Given the description of an element on the screen output the (x, y) to click on. 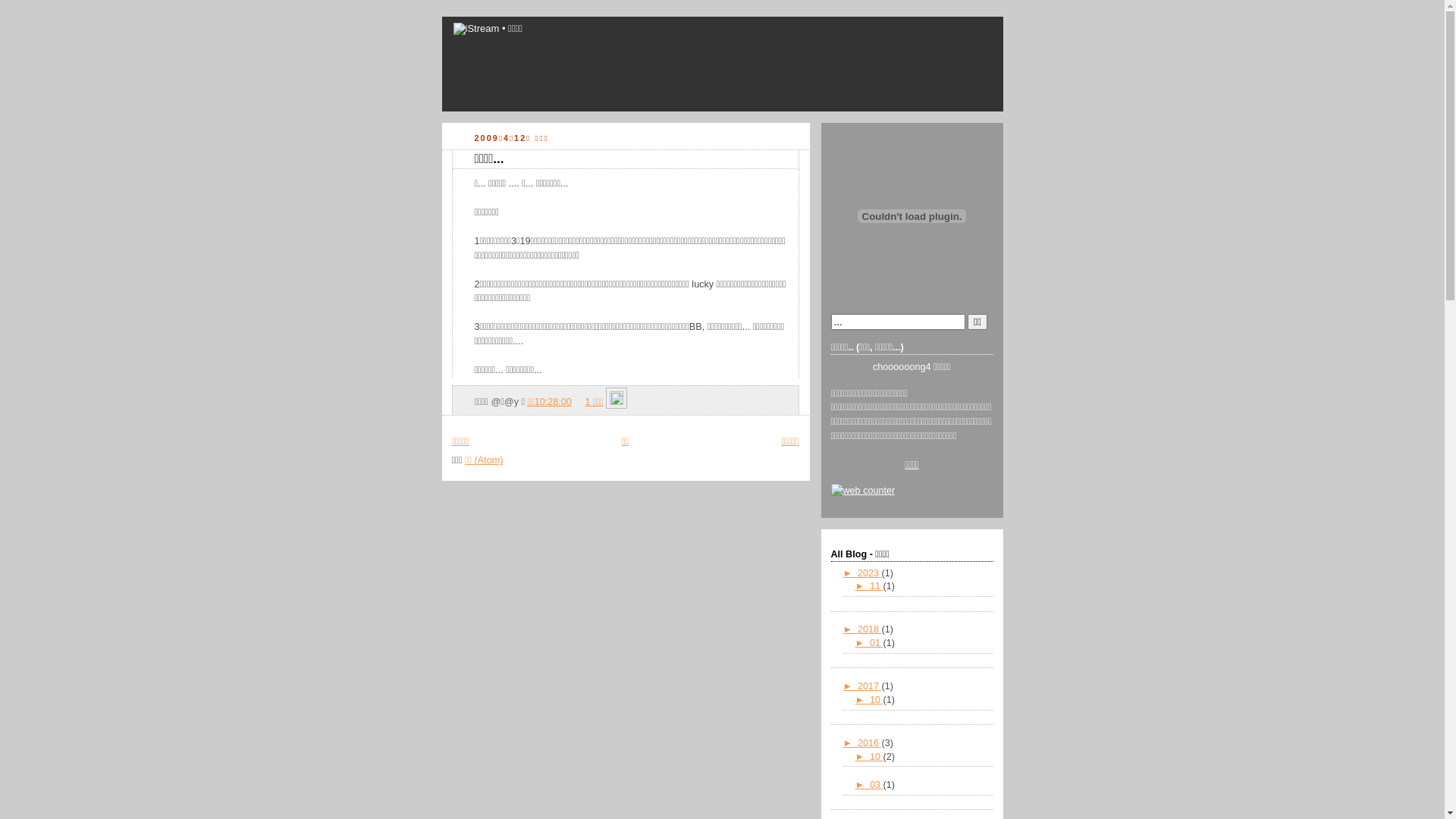
2016 Element type: text (869, 742)
10 Element type: text (876, 699)
10 Element type: text (876, 756)
01 Element type: text (876, 642)
2023 Element type: text (869, 572)
2017 Element type: text (869, 685)
03 Element type: text (876, 784)
11 Element type: text (876, 585)
2018 Element type: text (869, 629)
